Given the description of an element on the screen output the (x, y) to click on. 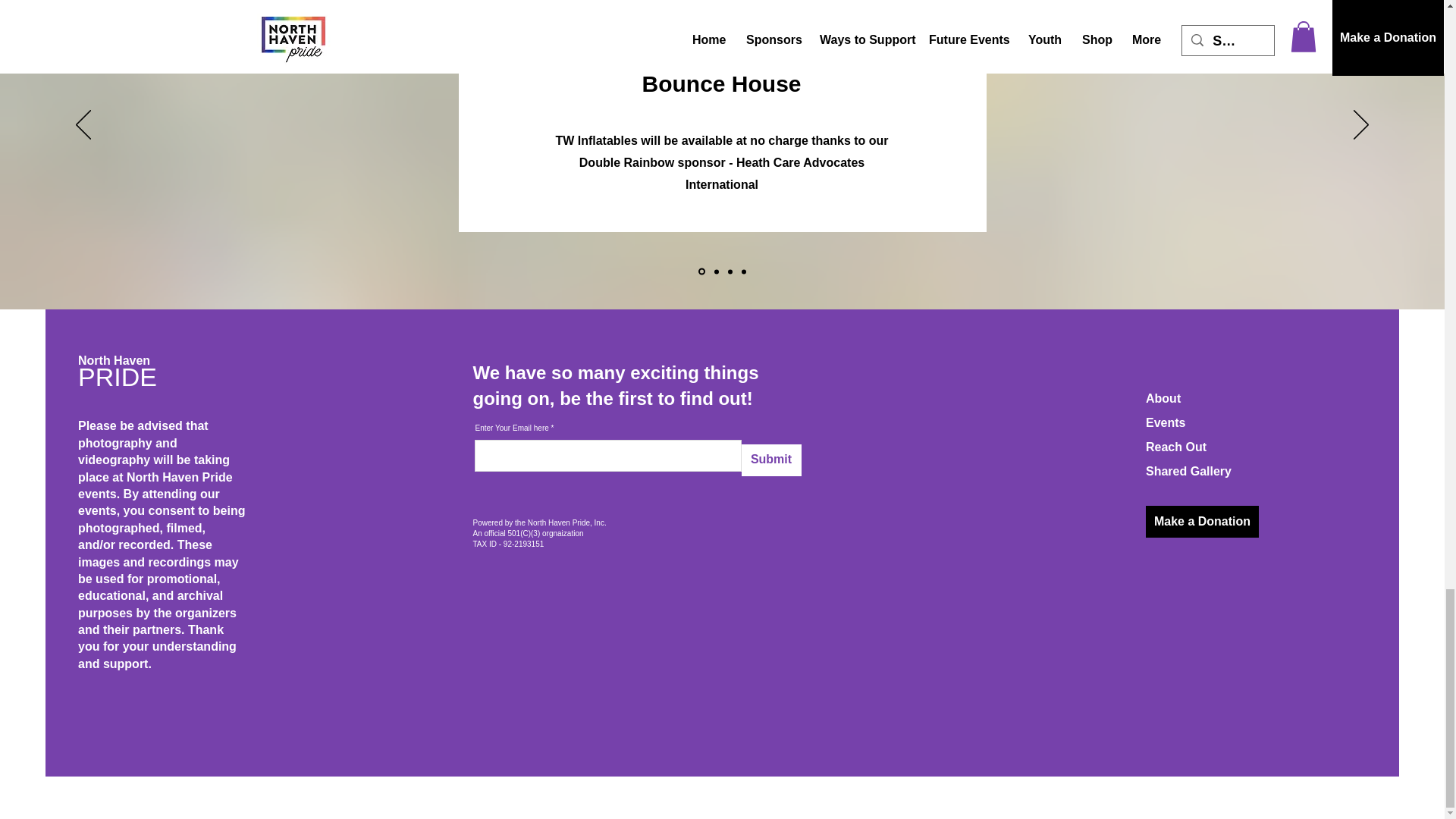
North Haven (113, 359)
About (1162, 398)
PRIDE (117, 376)
Shared Gallery (1188, 471)
Submit (771, 459)
Reach Out (1176, 446)
Make a Donation (1202, 521)
Events (1165, 422)
